Given the description of an element on the screen output the (x, y) to click on. 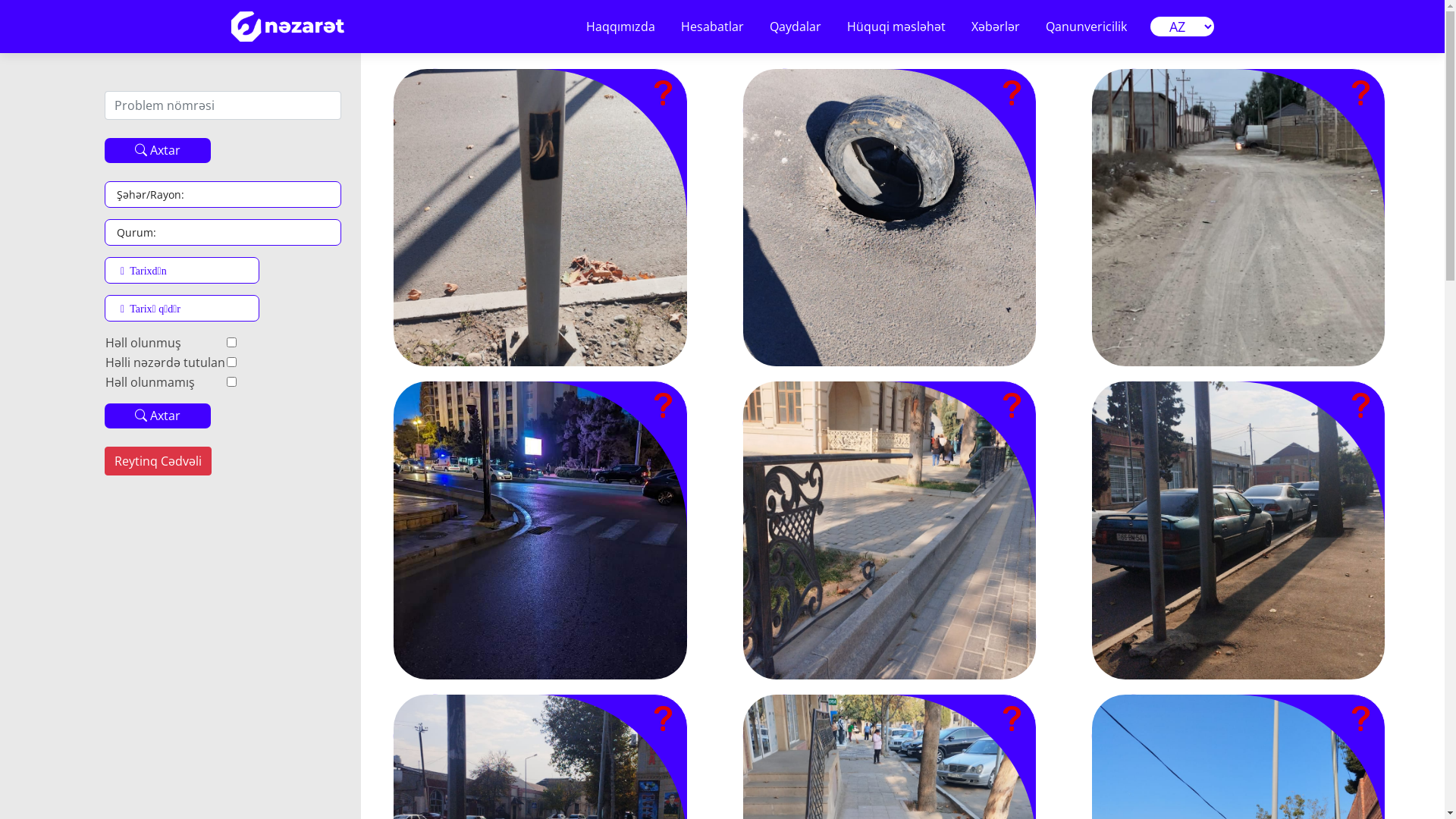
Qanunvericilik Element type: text (1086, 26)
Axtar Element type: text (157, 150)
Hesabatlar Element type: text (711, 26)
Qaydalar Element type: text (795, 26)
Axtar Element type: text (157, 415)
